Given the description of an element on the screen output the (x, y) to click on. 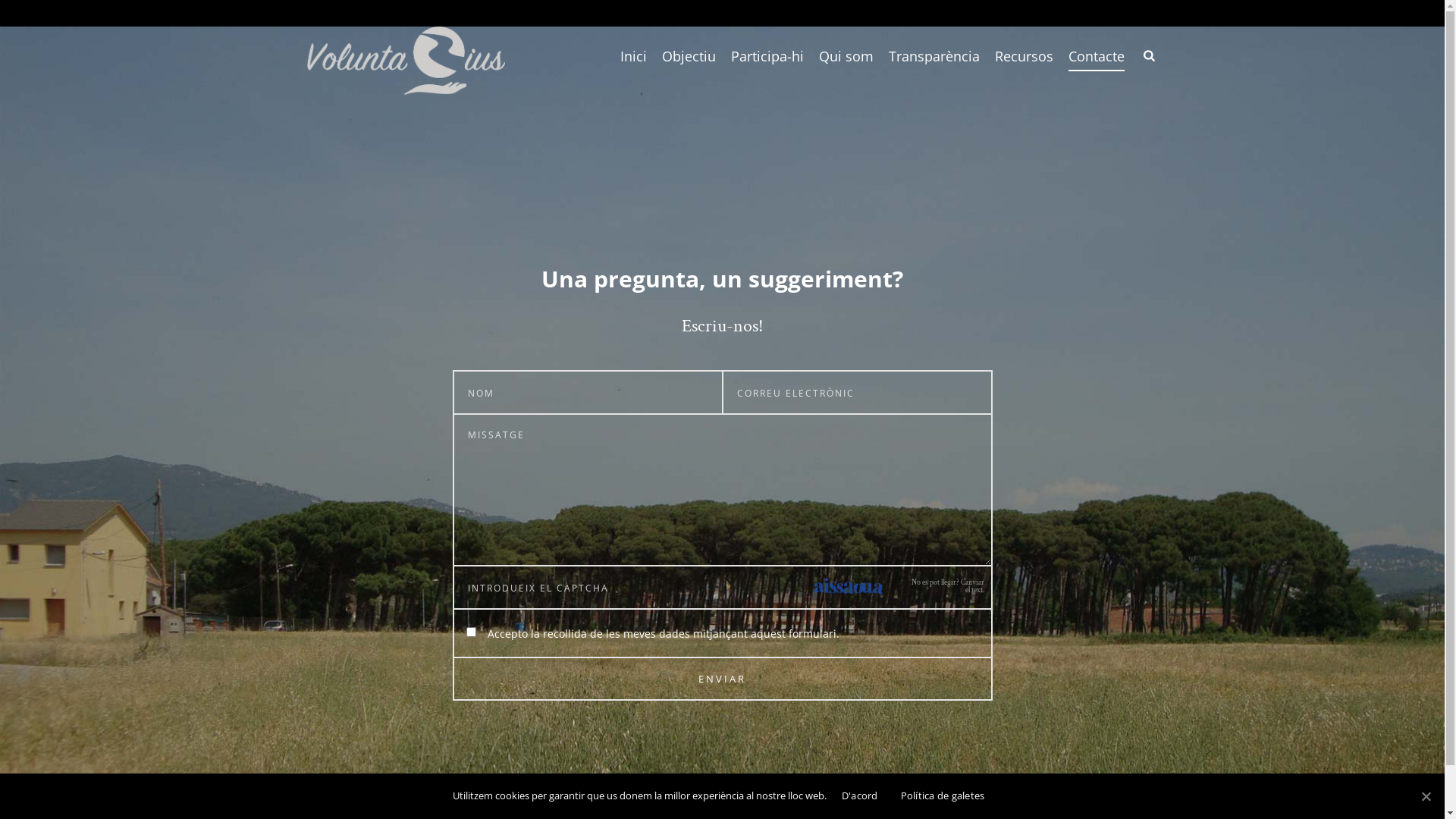
Inici Element type: text (633, 56)
No es pot llegir? Canviar el text. Element type: text (946, 586)
Qui som Element type: text (846, 56)
Contacte Element type: text (1096, 56)
D'acord Element type: text (859, 795)
ENVIAR Element type: text (722, 678)
Objectiu Element type: text (688, 56)
Participa-hi Element type: text (767, 56)
Recursos Element type: text (1023, 56)
